Given the description of an element on the screen output the (x, y) to click on. 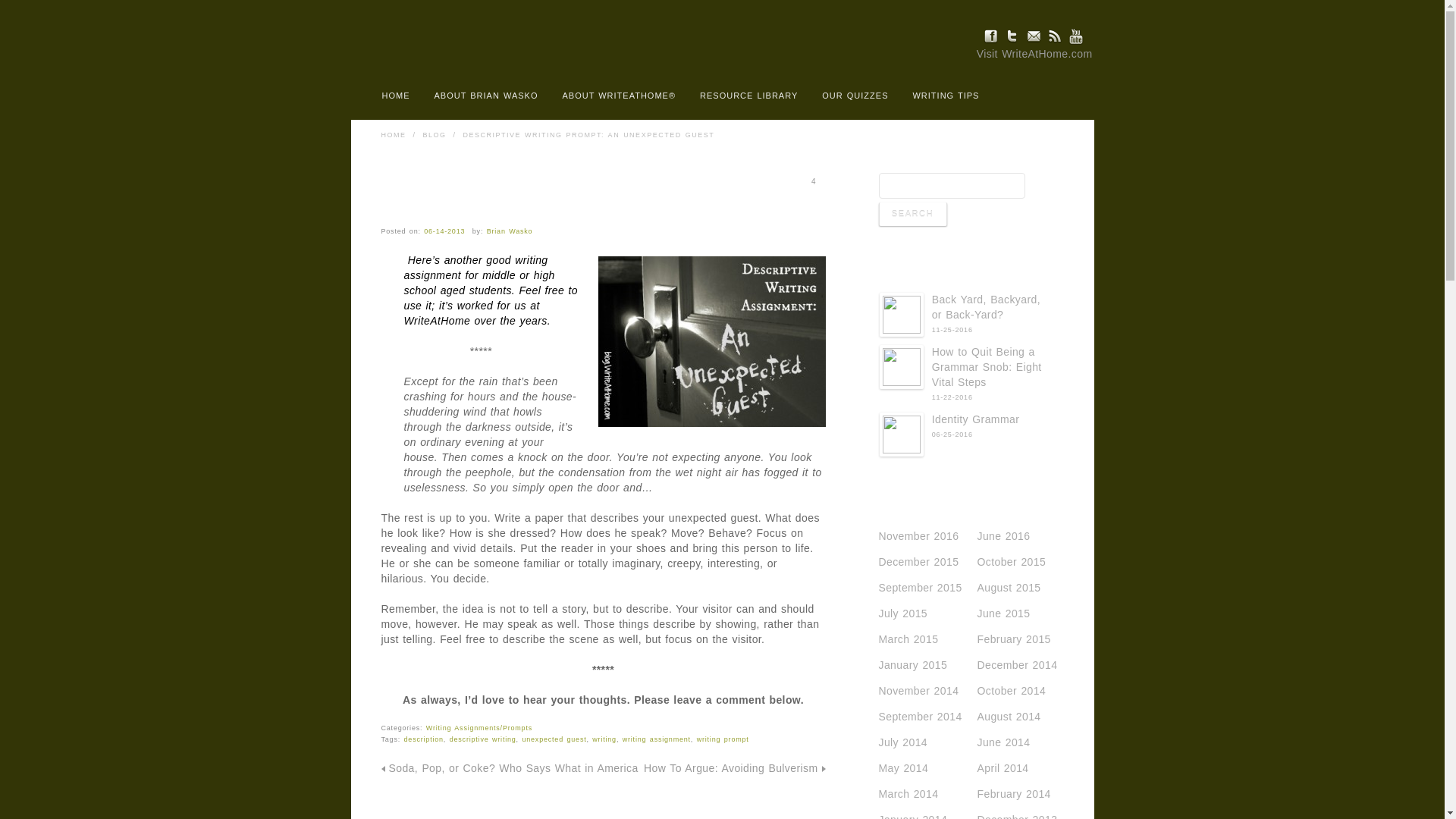
SEARCH (1052, 95)
descriptive writing (482, 738)
Visit WriteAtHome.com (1034, 53)
writing prompt (723, 738)
writing assignment (656, 738)
ABOUT BRIAN WASKO (486, 96)
description (424, 738)
Blog (434, 134)
HOME (393, 134)
OUR QUIZZES (854, 96)
